Given the description of an element on the screen output the (x, y) to click on. 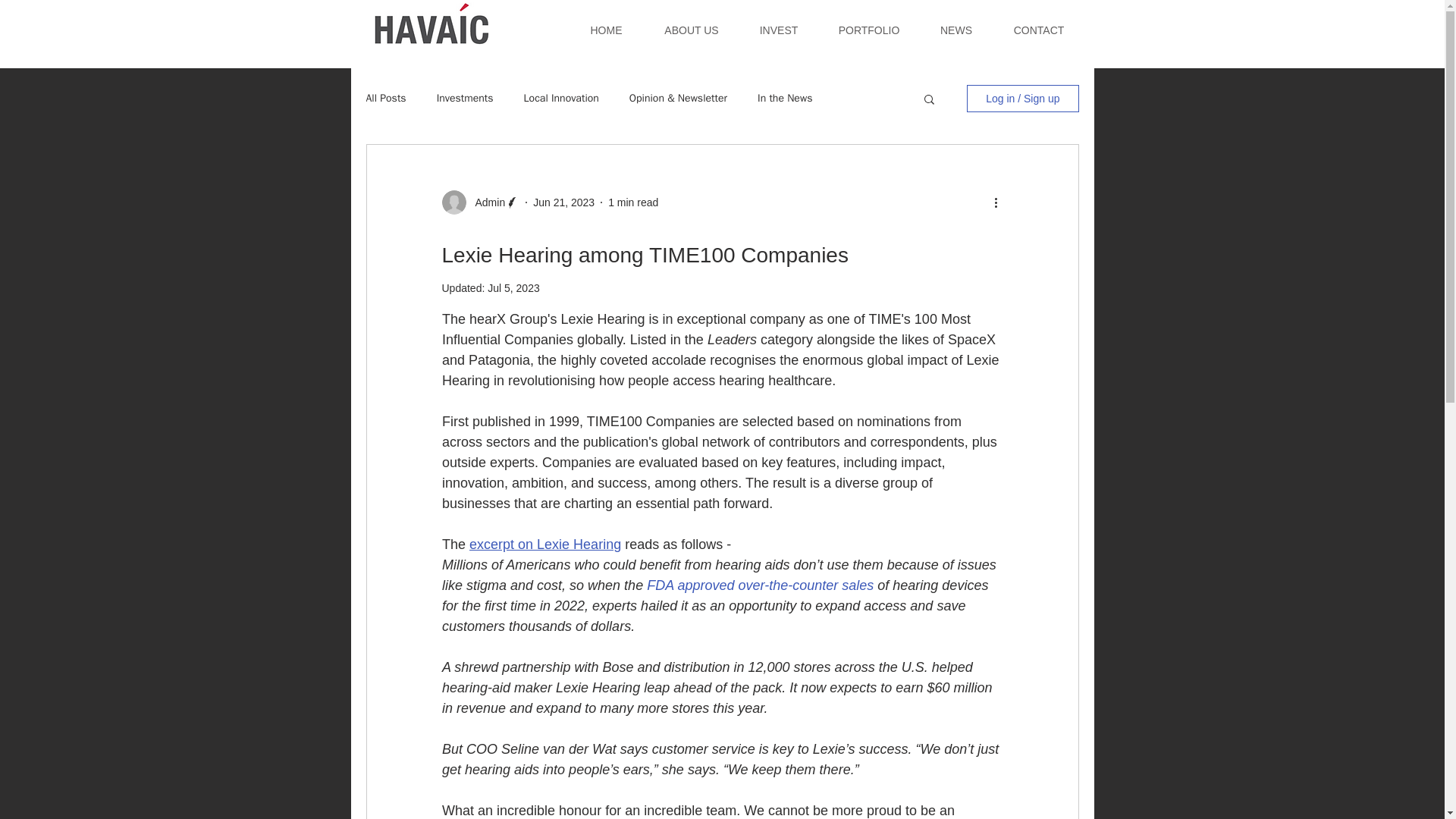
In the News (784, 98)
INVEST (778, 30)
ABOUT US (691, 30)
excerpt on Lexie Hearing (544, 544)
All Posts (385, 98)
1 min read (633, 201)
Admin (485, 201)
NEWS (956, 30)
Investments (464, 98)
Jul 5, 2023 (513, 287)
HOME (606, 30)
Jun 21, 2023 (563, 201)
FDA approved over-the-counter sales (759, 585)
CONTACT (1037, 30)
Local Innovation (561, 98)
